Given the description of an element on the screen output the (x, y) to click on. 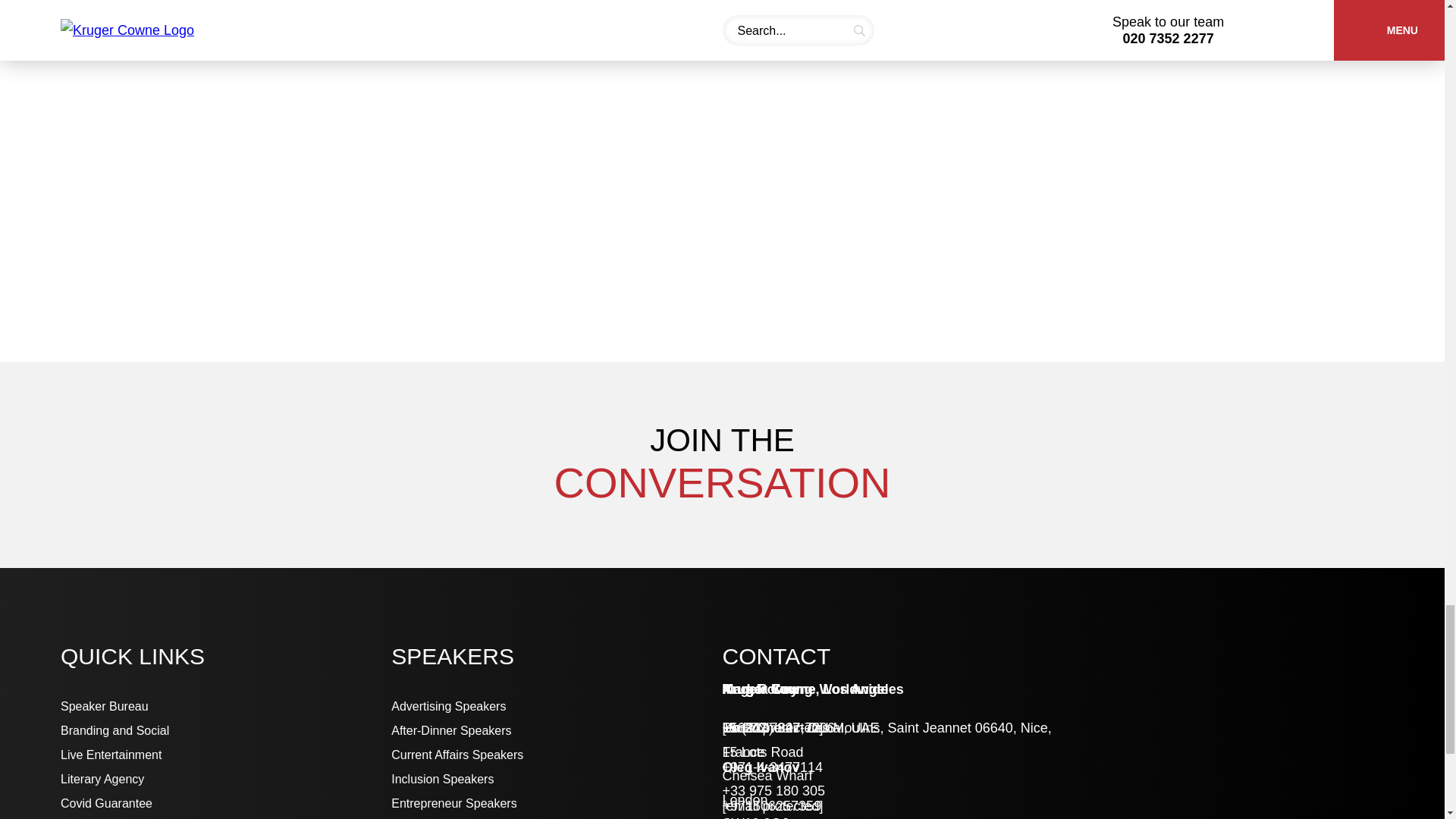
Covid Guarantee (226, 803)
Speaker Bureau (226, 706)
Live Entertainment (226, 755)
Branding and Social (226, 730)
Advertising Speakers (556, 706)
Literary Agency (226, 779)
